Given the description of an element on the screen output the (x, y) to click on. 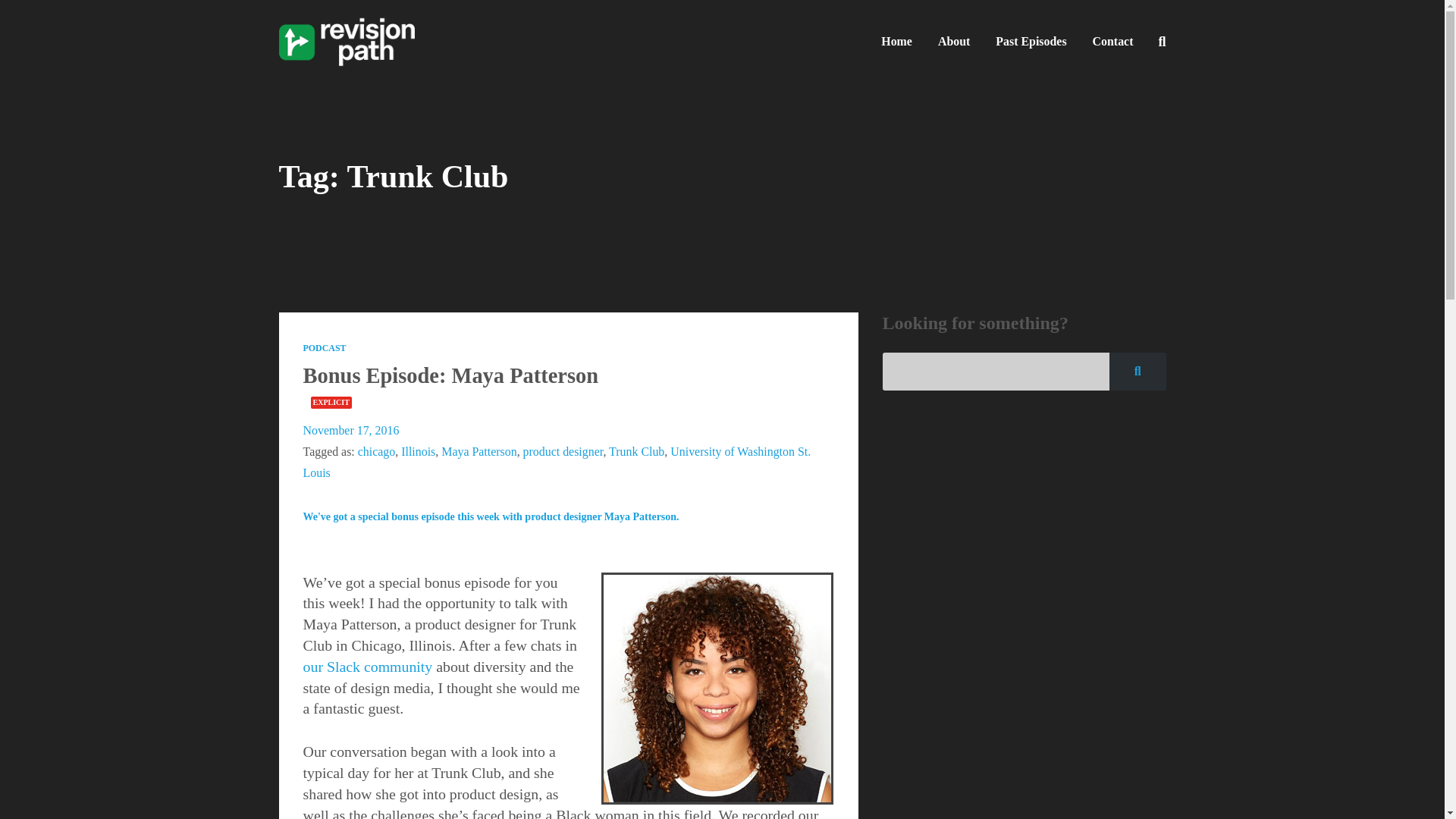
Permalink to Bonus Episode: Maya Patterson (450, 375)
University of Washington St. Louis (556, 462)
Trunk Club (635, 451)
PODCAST (324, 347)
Bonus Episode: Maya Patterson (450, 375)
Illinois (418, 451)
Past Episodes (1030, 41)
chicago (376, 451)
product designer (563, 451)
Maya Patterson (478, 451)
